Given the description of an element on the screen output the (x, y) to click on. 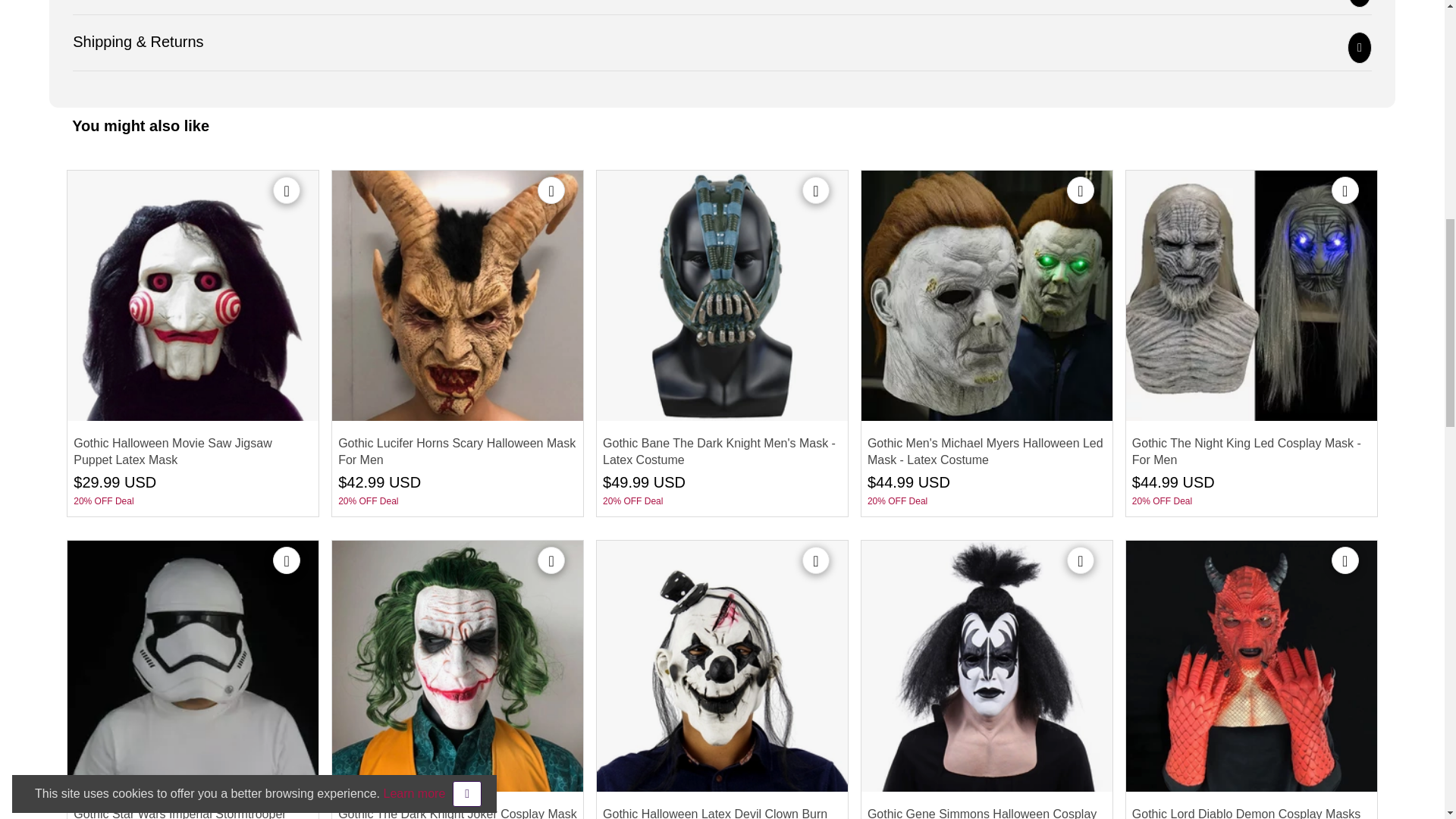
Gothic Halloween Movie Saw Jigsaw Puppet Latex Mask (192, 295)
29.99 (100, 482)
